Given the description of an element on the screen output the (x, y) to click on. 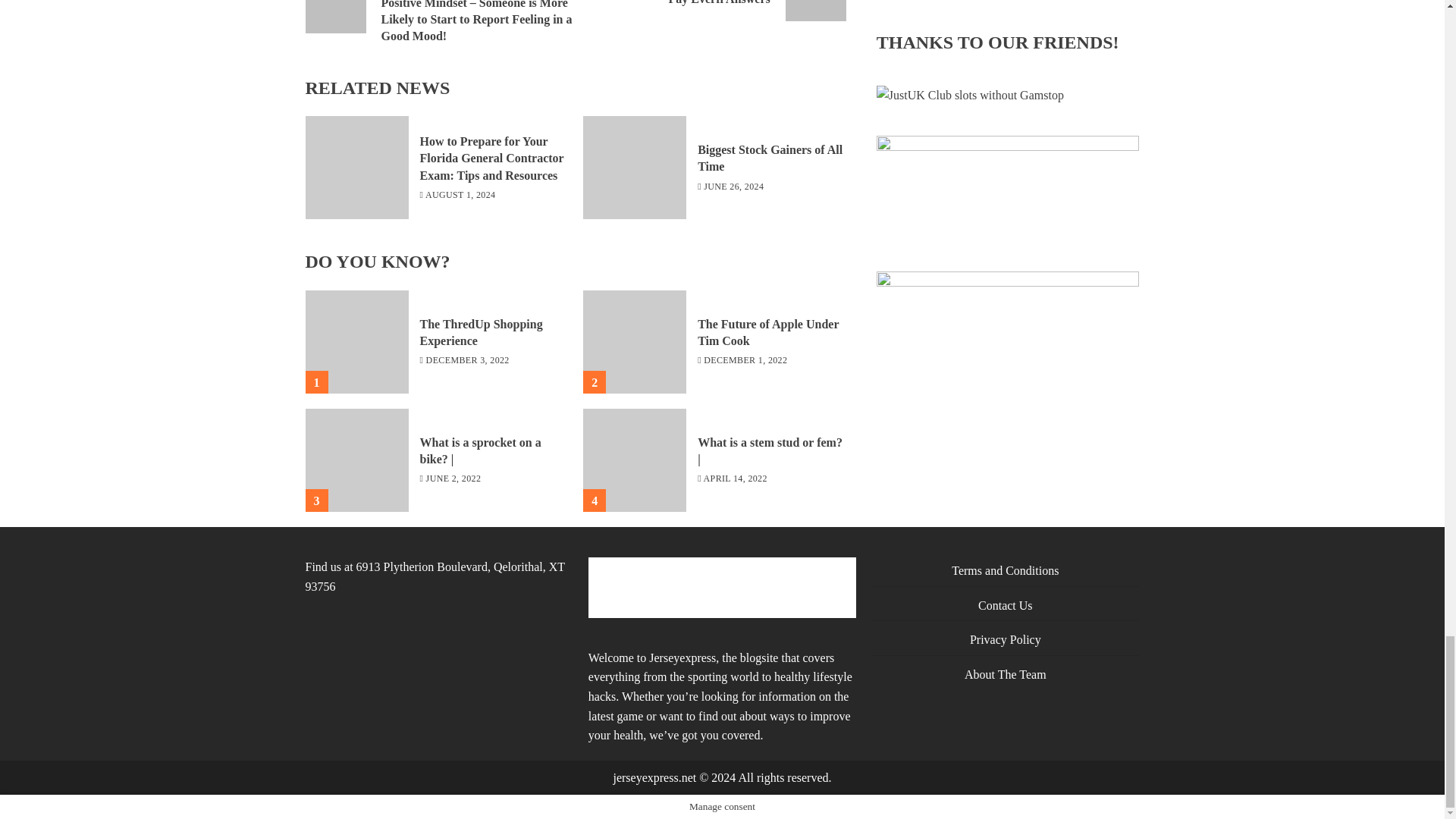
The ThredUp Shopping Experience (481, 332)
Biggest Stock Gainers of All Time (634, 167)
The ThredUp Shopping Experience (355, 341)
The Future of Apple Under Tim Cook (710, 10)
The Future of Apple Under Tim Cook (767, 332)
Biggest Stock Gainers of All Time (634, 341)
